Given the description of an element on the screen output the (x, y) to click on. 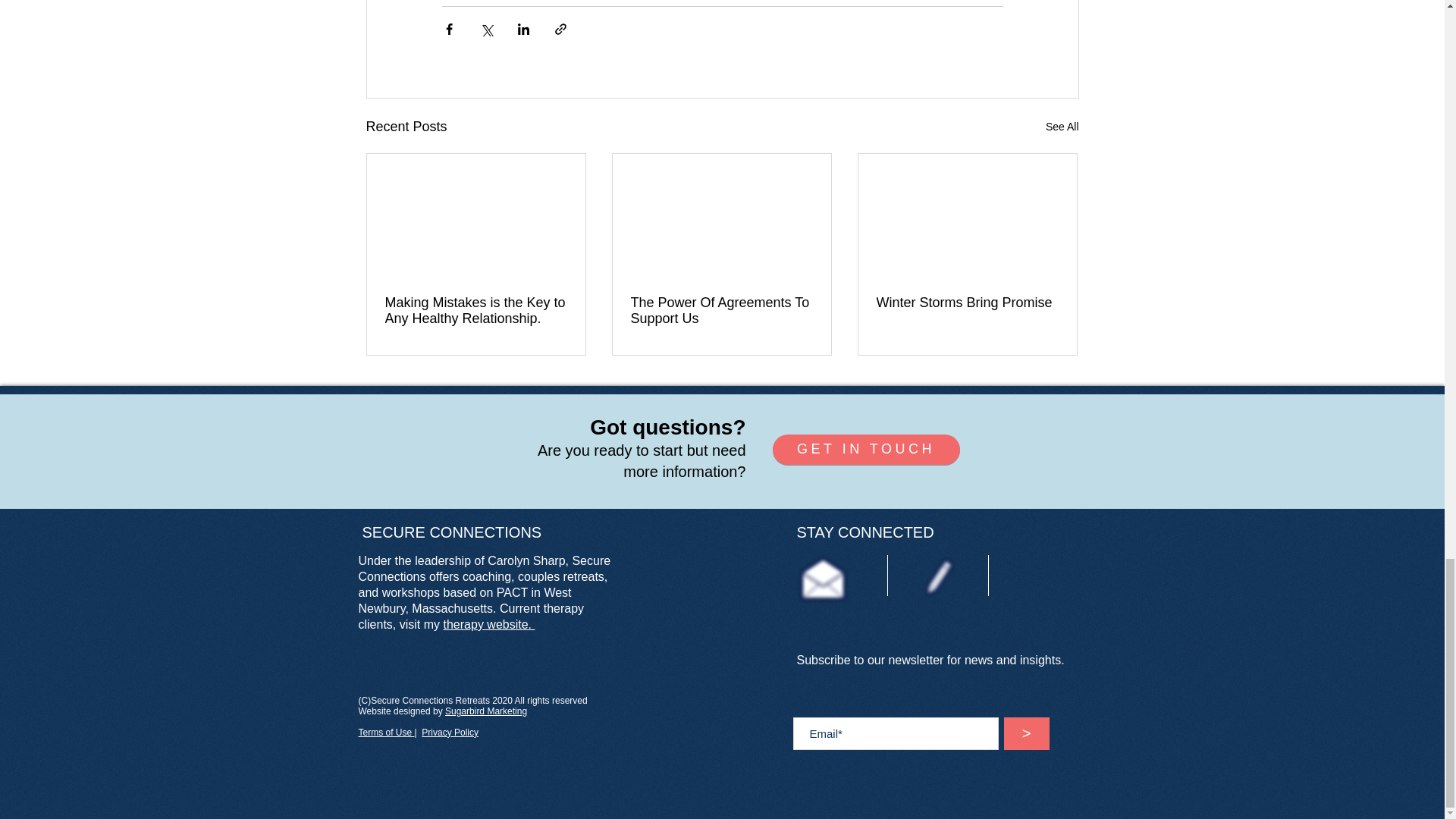
See All (1061, 127)
Winter Storms Bring Promise (967, 302)
The Power Of Agreements To Support Us (721, 310)
Terms of Use  (385, 732)
Making Mistakes is the Key to Any Healthy Relationship. (476, 310)
therapy website.  (489, 624)
Sugarbird Marketing (486, 710)
Privacy Policy (450, 732)
GET IN TOUCH (865, 449)
